Given the description of an element on the screen output the (x, y) to click on. 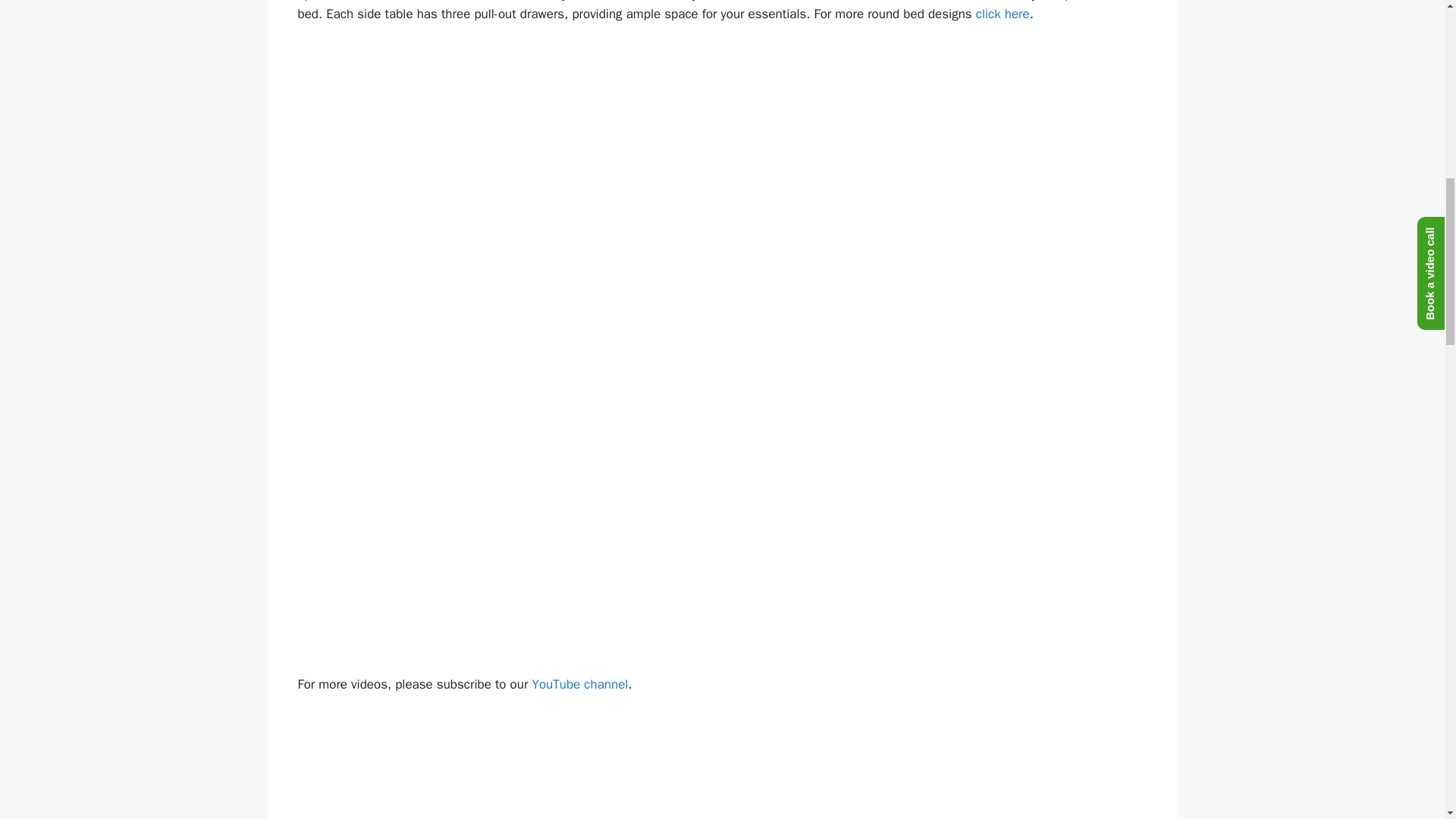
Scroll back to top (1406, 720)
